Given the description of an element on the screen output the (x, y) to click on. 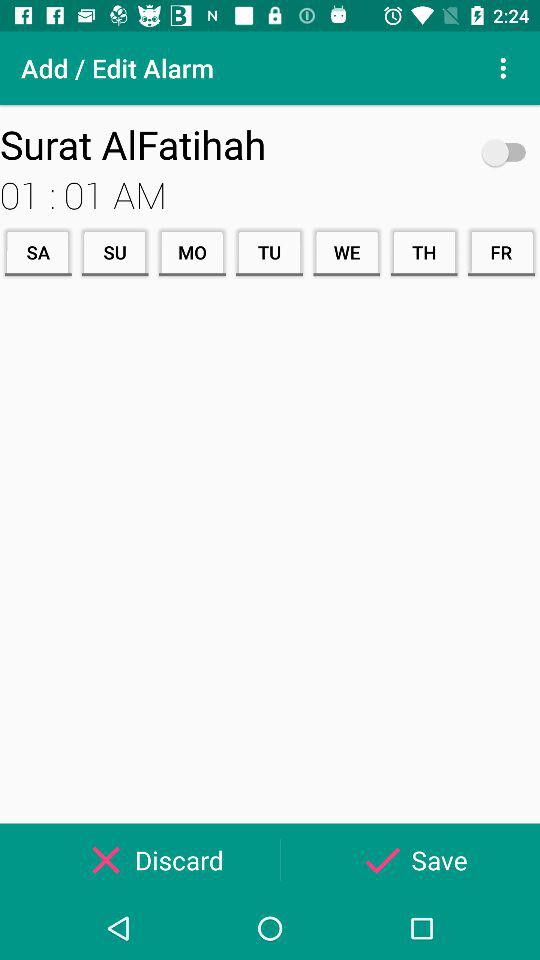
swipe to the surat alfatihah icon (238, 144)
